Given the description of an element on the screen output the (x, y) to click on. 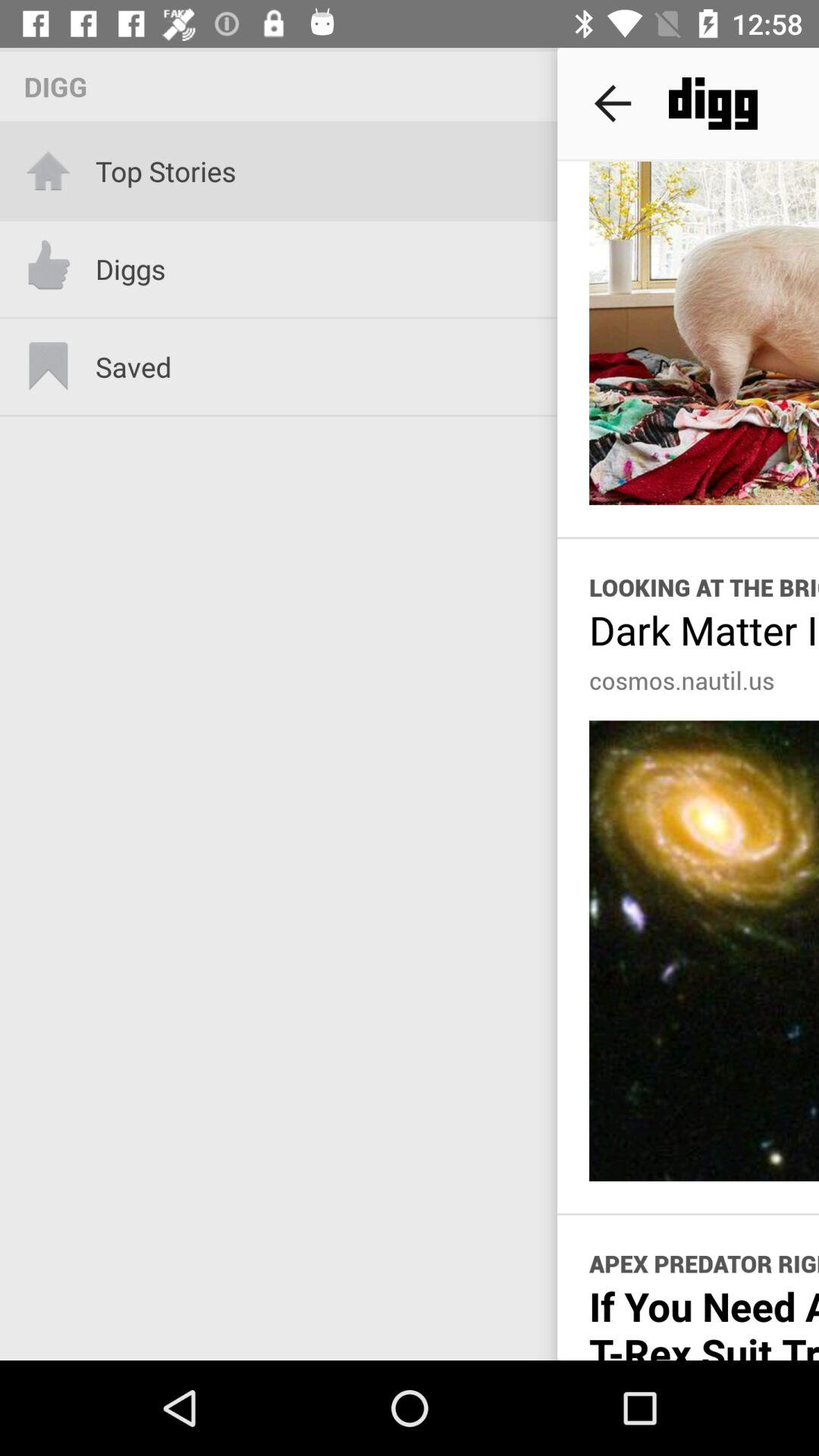
click icon above if you need (704, 1263)
